Given the description of an element on the screen output the (x, y) to click on. 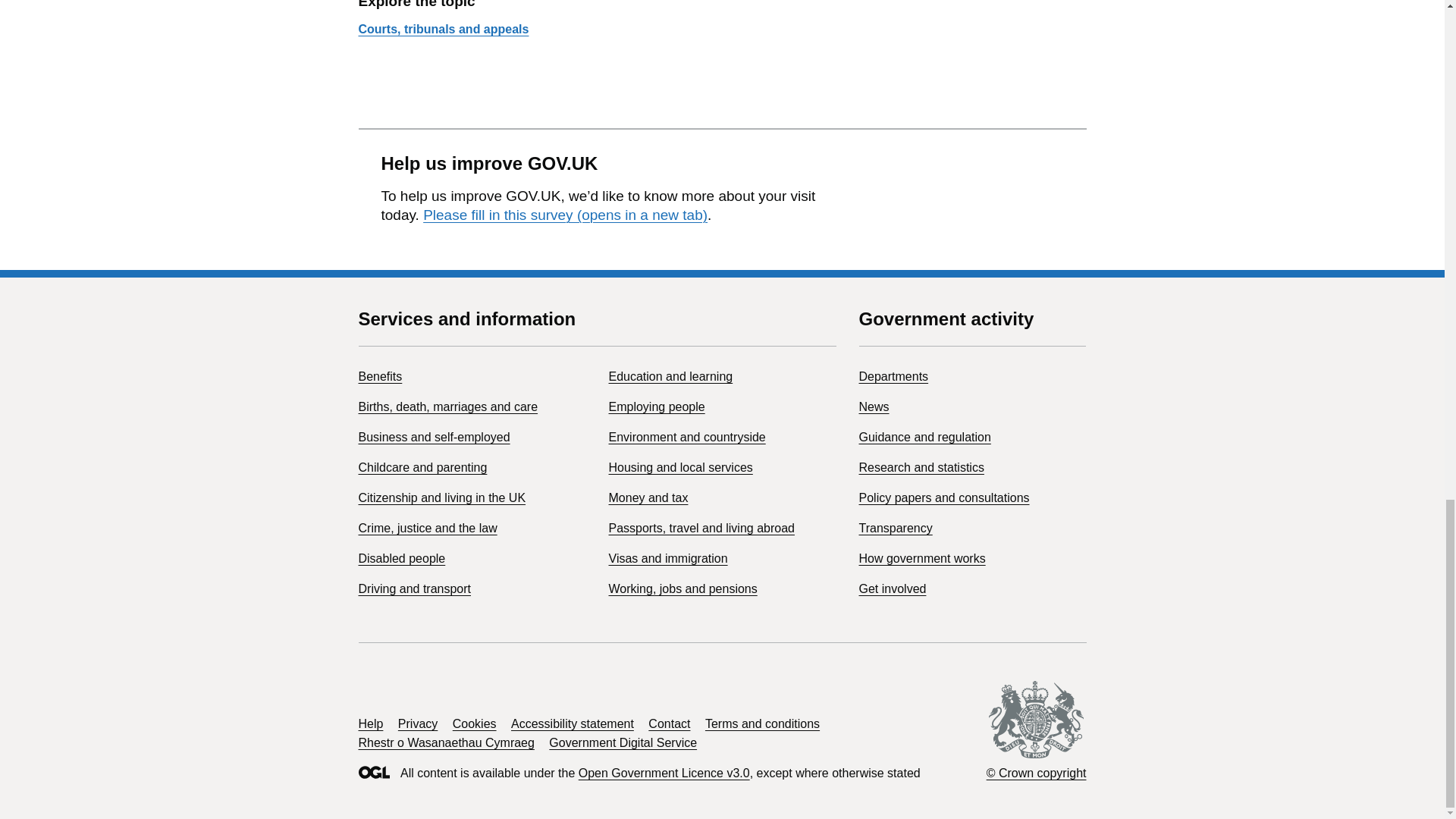
Disabled people (401, 558)
Births, death, marriages and care (447, 406)
Driving and transport (414, 588)
Business and self-employed (433, 436)
Departments (893, 376)
Education and learning (670, 376)
Environment and countryside (686, 436)
Passports, travel and living abroad (700, 527)
Childcare and parenting (422, 467)
Citizenship and living in the UK (441, 497)
